Given the description of an element on the screen output the (x, y) to click on. 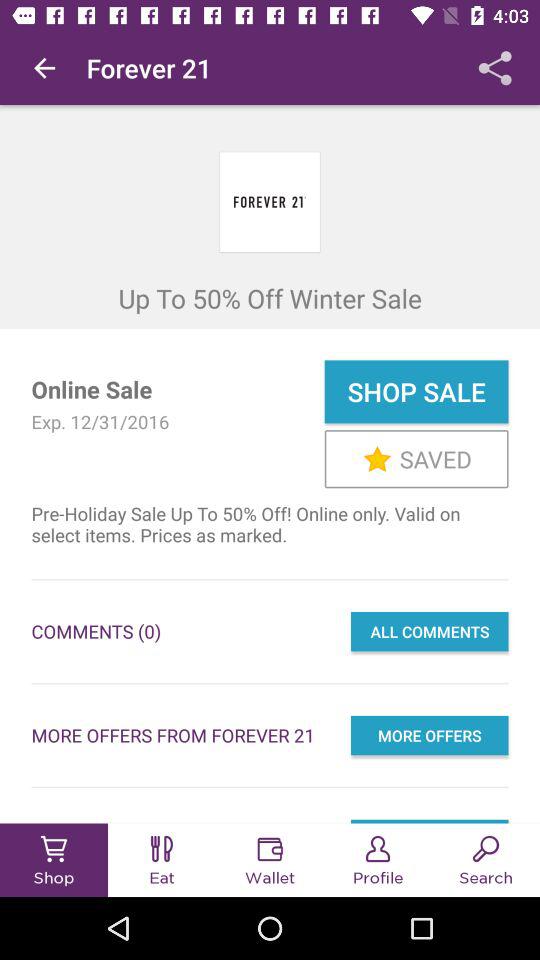
choose the icon next to online sale (416, 391)
